Given the description of an element on the screen output the (x, y) to click on. 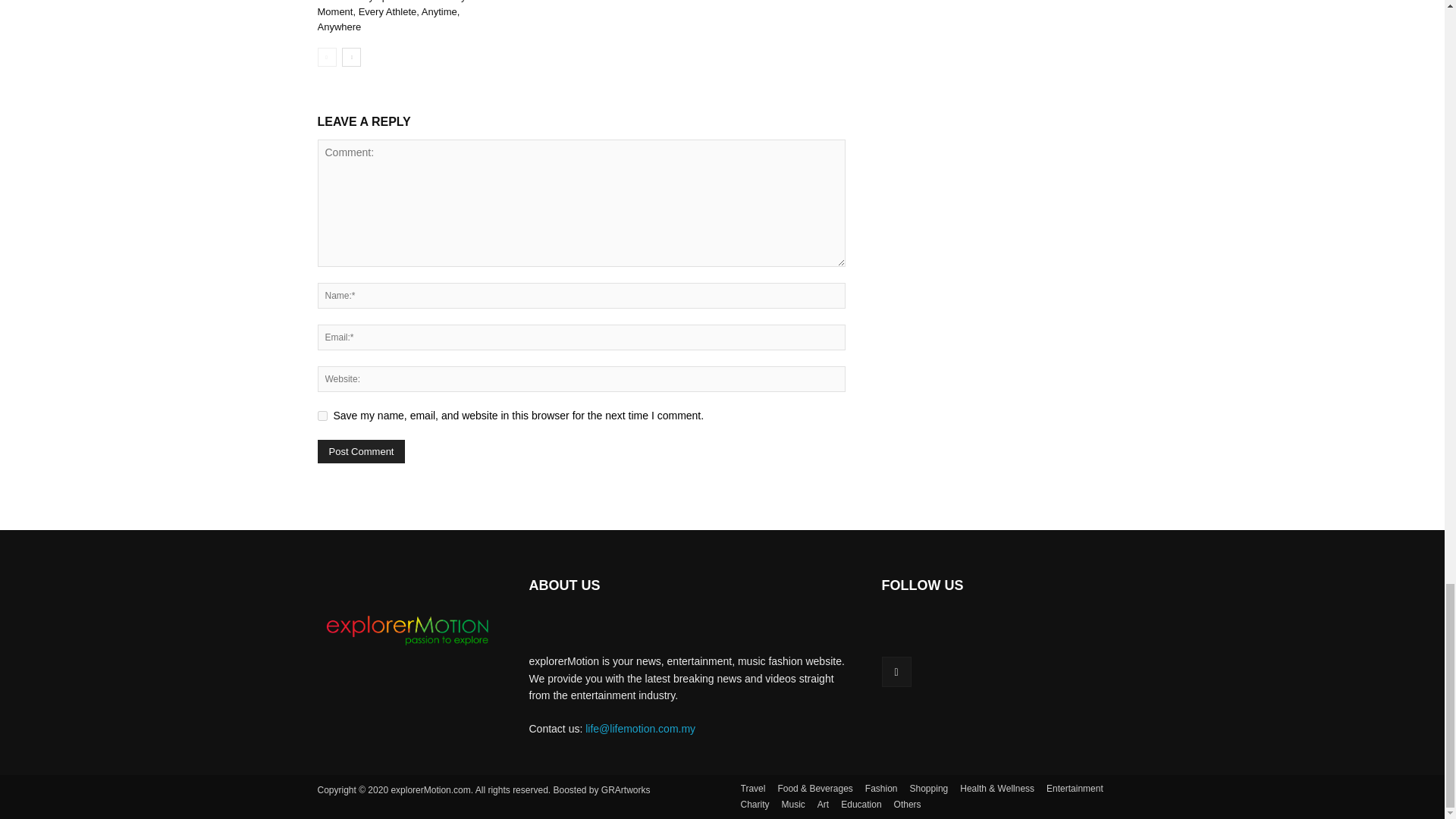
Post Comment (360, 451)
yes (321, 415)
